Given the description of an element on the screen output the (x, y) to click on. 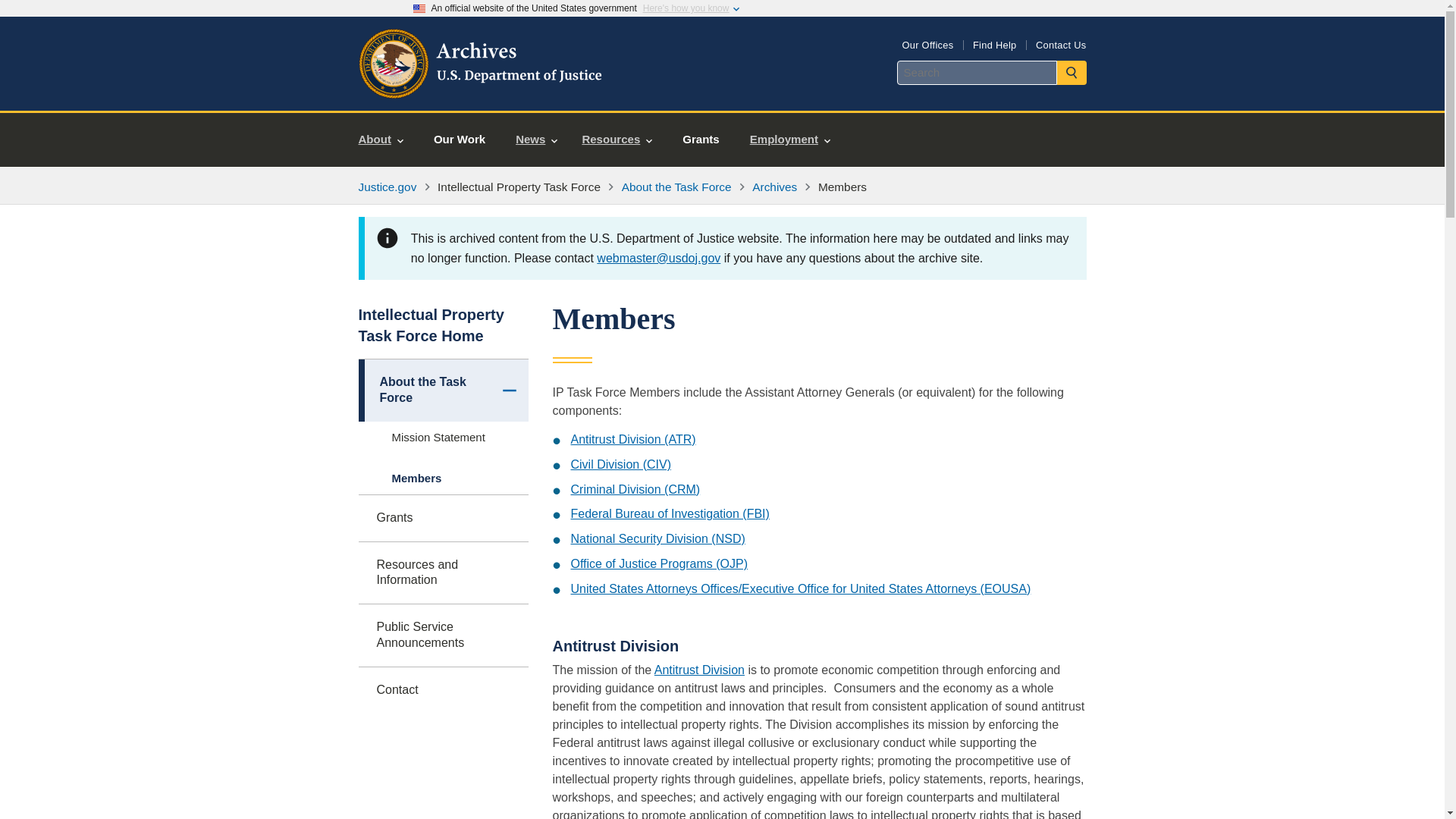
Grants (442, 518)
Public Service Announcements (442, 635)
Contact Us (1060, 44)
Justice.gov (387, 186)
Members (442, 478)
About the Task Force (676, 186)
Employment (790, 140)
Our Offices (927, 44)
Resources and Information (442, 573)
Here's how you know (686, 8)
Grants (699, 140)
Archives (774, 186)
News (536, 140)
Find Help (994, 44)
Mission Statement (442, 437)
